Given the description of an element on the screen output the (x, y) to click on. 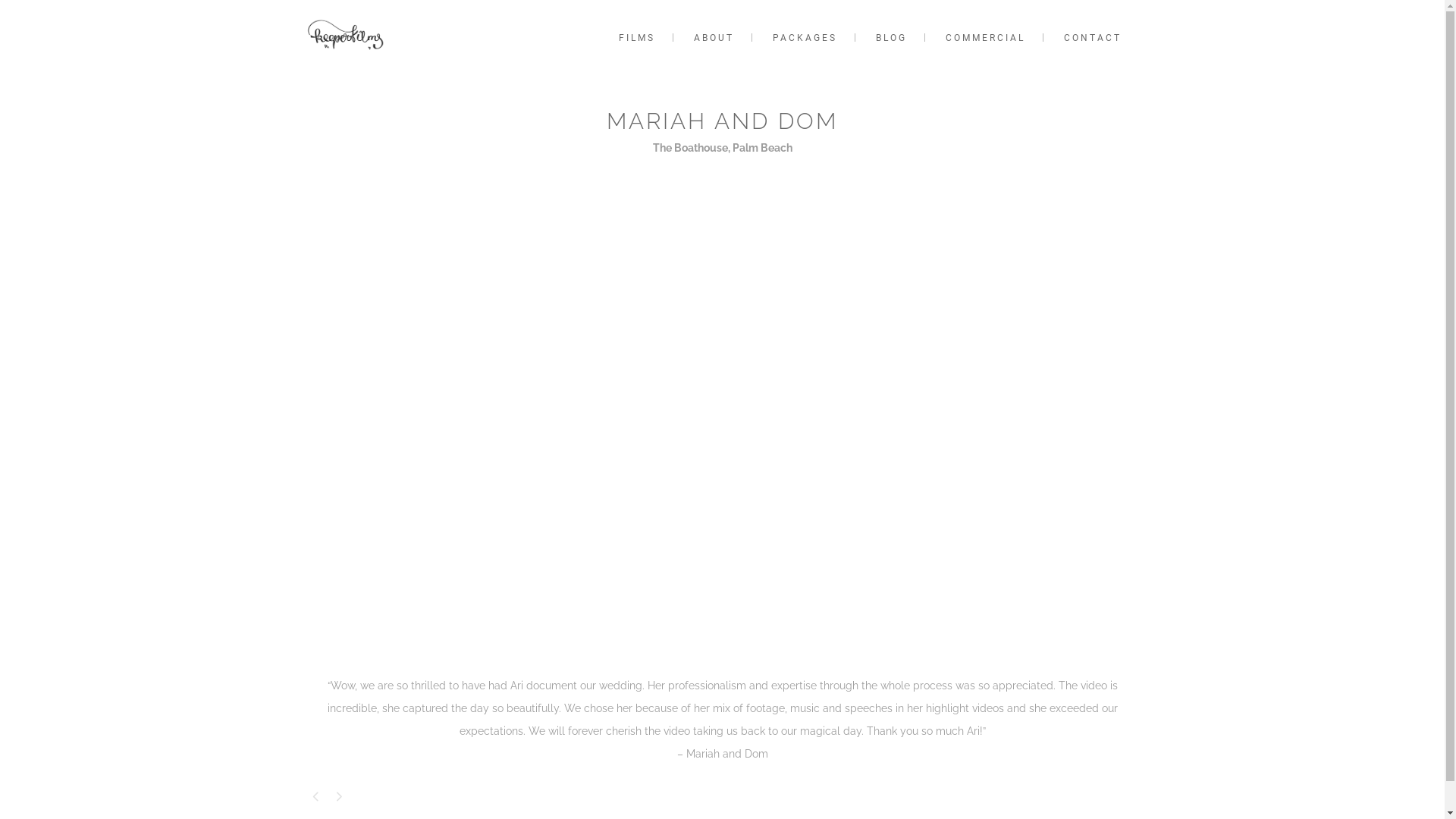
COMMERCIAL Element type: text (984, 37)
ABOUT Element type: text (712, 37)
BLOG Element type: text (890, 37)
FILMS Element type: text (636, 37)
PACKAGES Element type: text (803, 37)
CONTACT Element type: text (1091, 37)
